Given the description of an element on the screen output the (x, y) to click on. 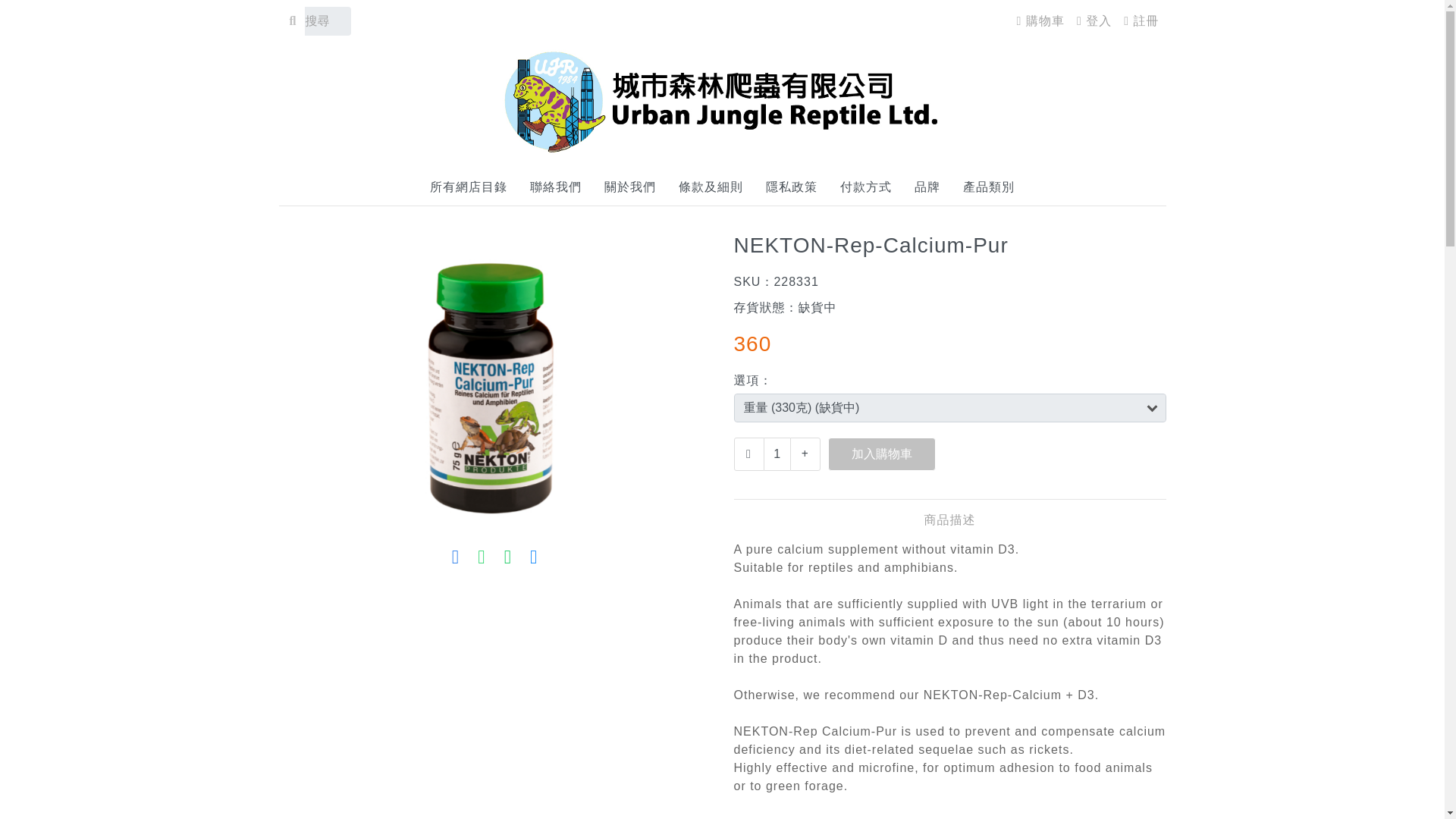
facebook (533, 556)
whatsapp (481, 556)
line (506, 556)
NEKTON-Rep-Calcium-Pur (495, 377)
sms (454, 556)
